Given the description of an element on the screen output the (x, y) to click on. 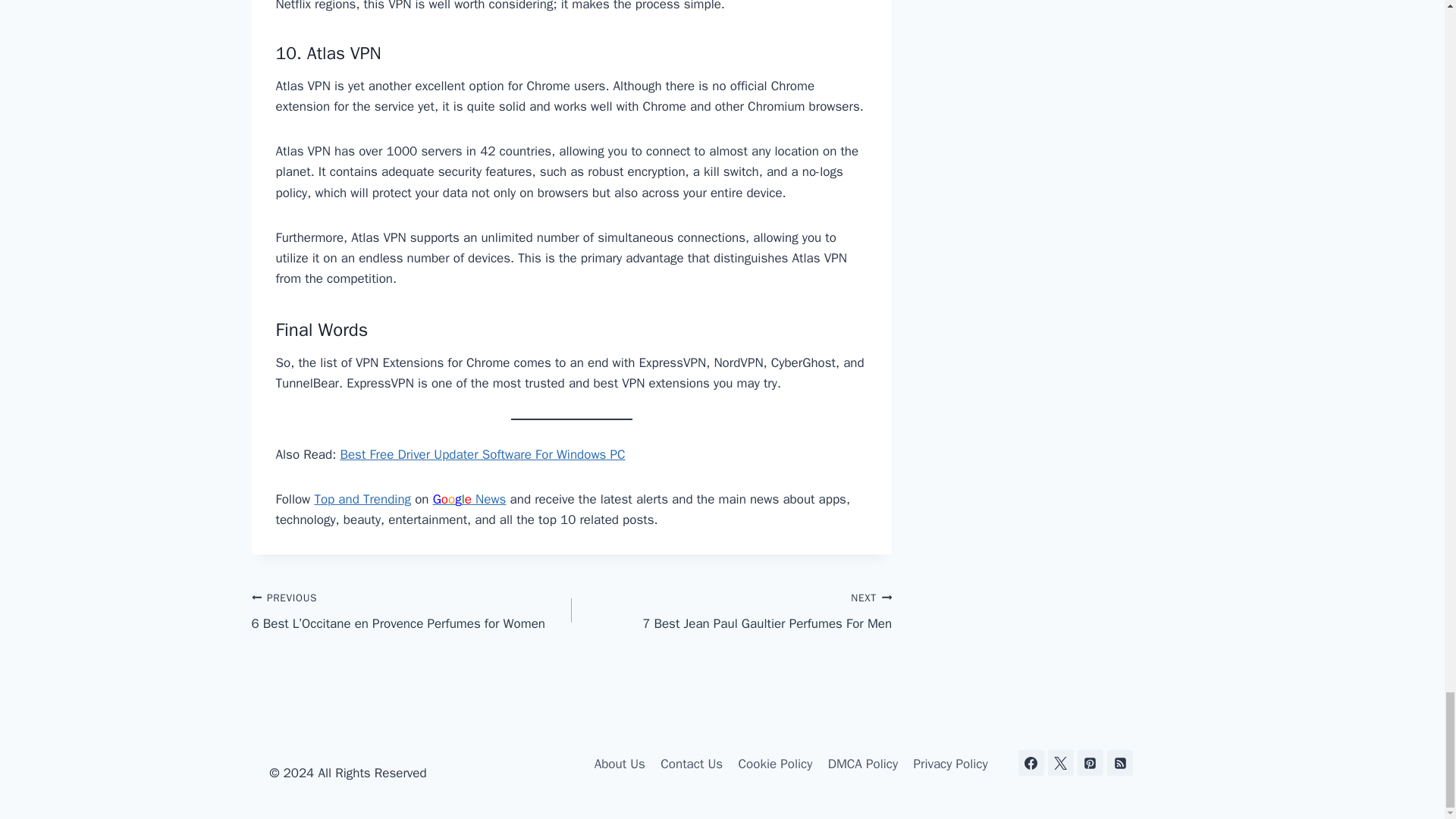
Best Free Driver Updater Software For Windows PC (481, 454)
Top and Trending (362, 498)
Google News (731, 610)
